Given the description of an element on the screen output the (x, y) to click on. 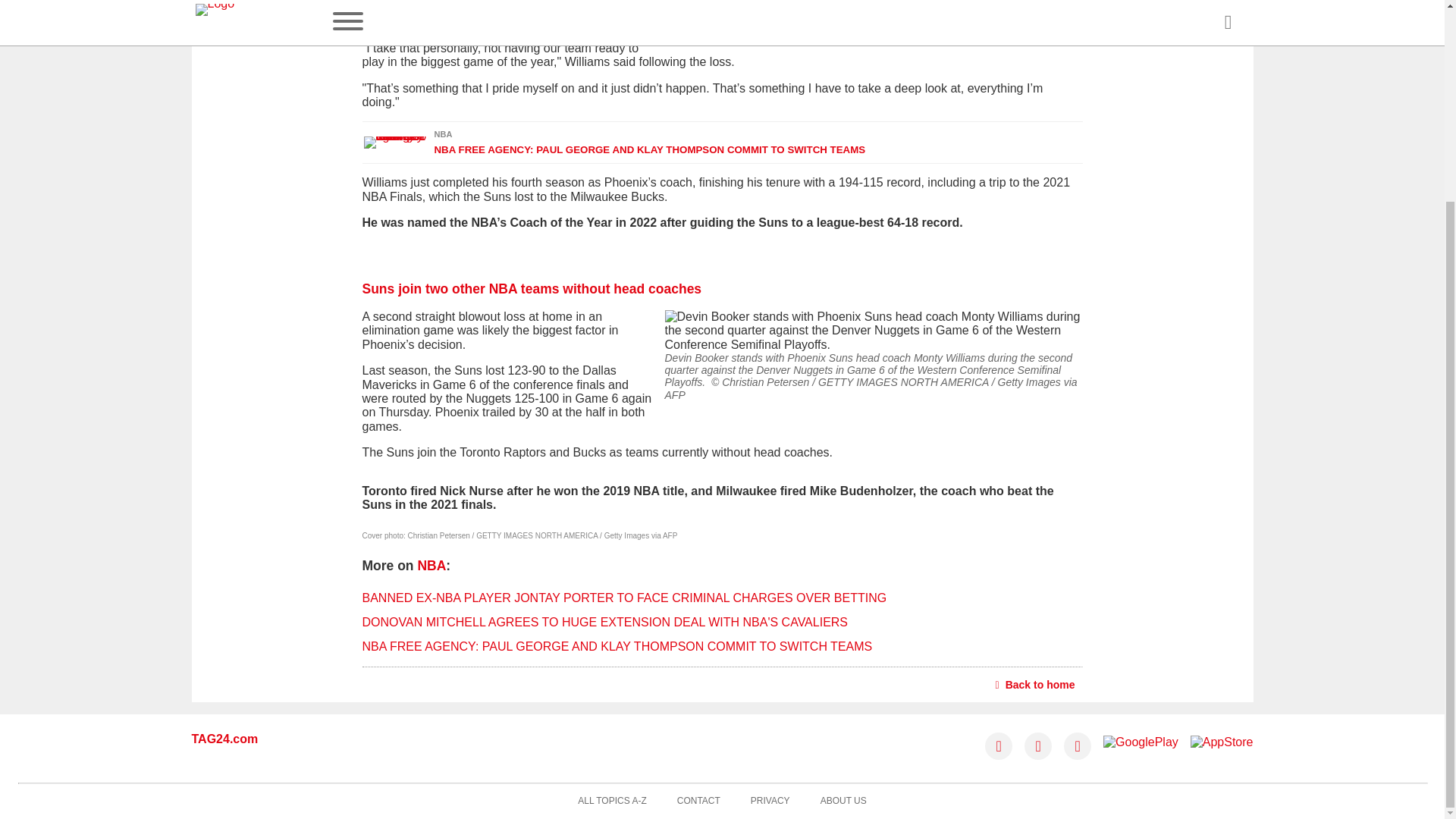
ABOUT US (843, 801)
Back to home (1035, 684)
PRIVACY (770, 801)
CONTACT (698, 801)
NBA (430, 565)
ALL TOPICS A-Z (612, 801)
